Given the description of an element on the screen output the (x, y) to click on. 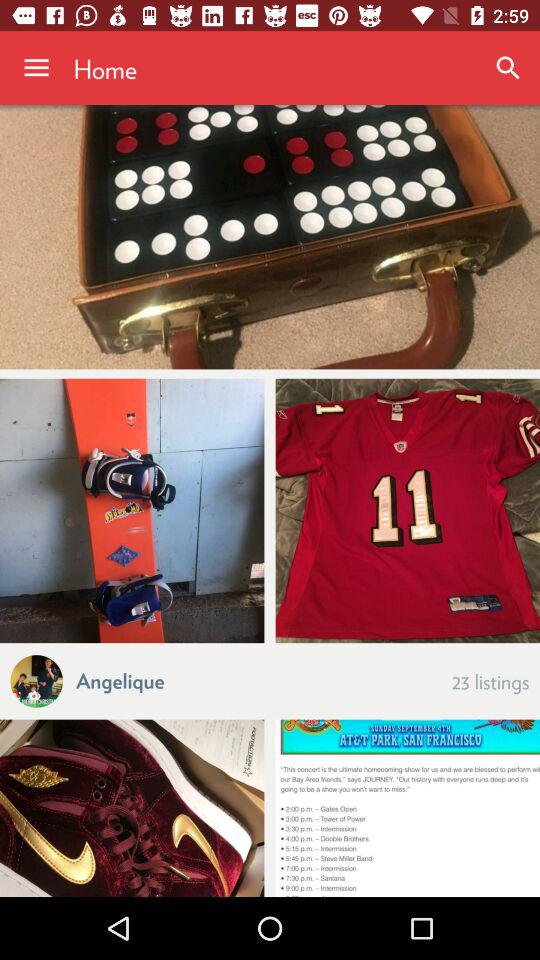
turn on item to the right of angelique icon (490, 680)
